Given the description of an element on the screen output the (x, y) to click on. 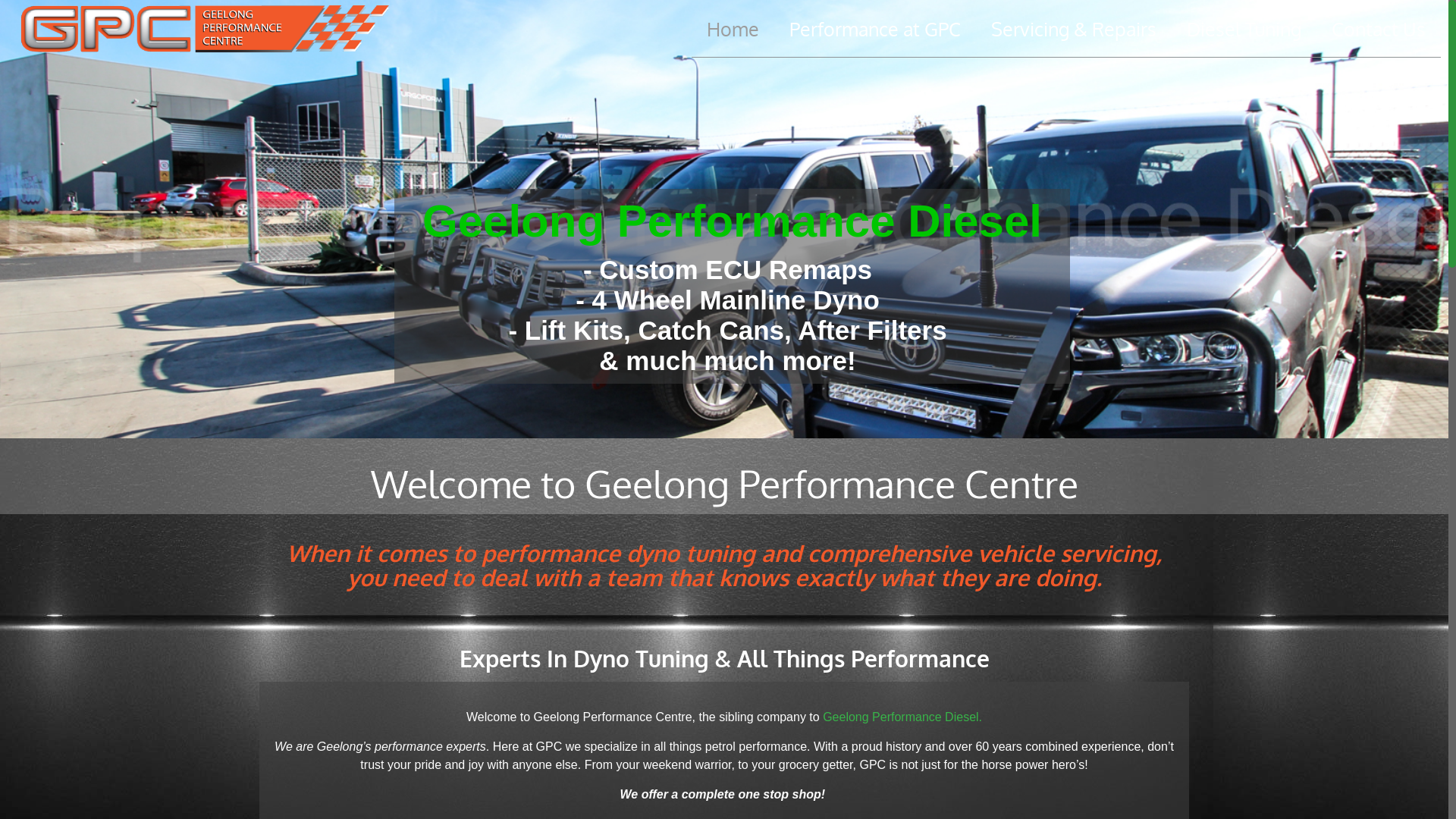
Contact Us Element type: text (1378, 28)
Diesel Tuning Element type: text (1243, 28)
Home Element type: text (732, 28)
Geelong Performance Diesel Element type: text (900, 716)
Geelong Performance Centre Element type: hover (206, 28)
Performance at GPC Element type: text (874, 28)
Servicing & Repairs Element type: text (1073, 28)
